Given the description of an element on the screen output the (x, y) to click on. 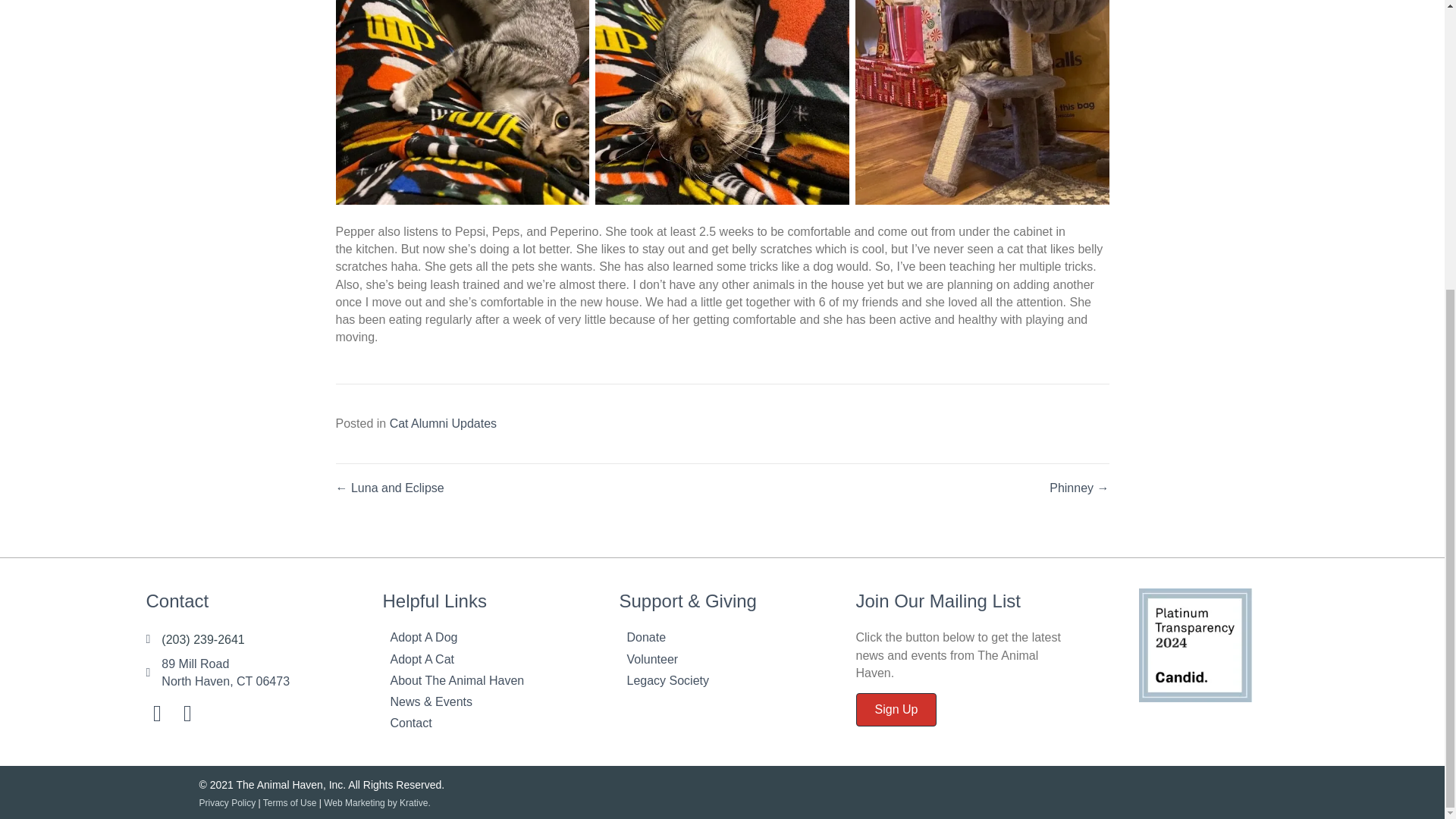
Cat Alumni Updates (443, 422)
Screen Shot 2024-03-14 at 4.35.29 PM (1195, 644)
Instagram (187, 712)
Facebook (225, 671)
